Given the description of an element on the screen output the (x, y) to click on. 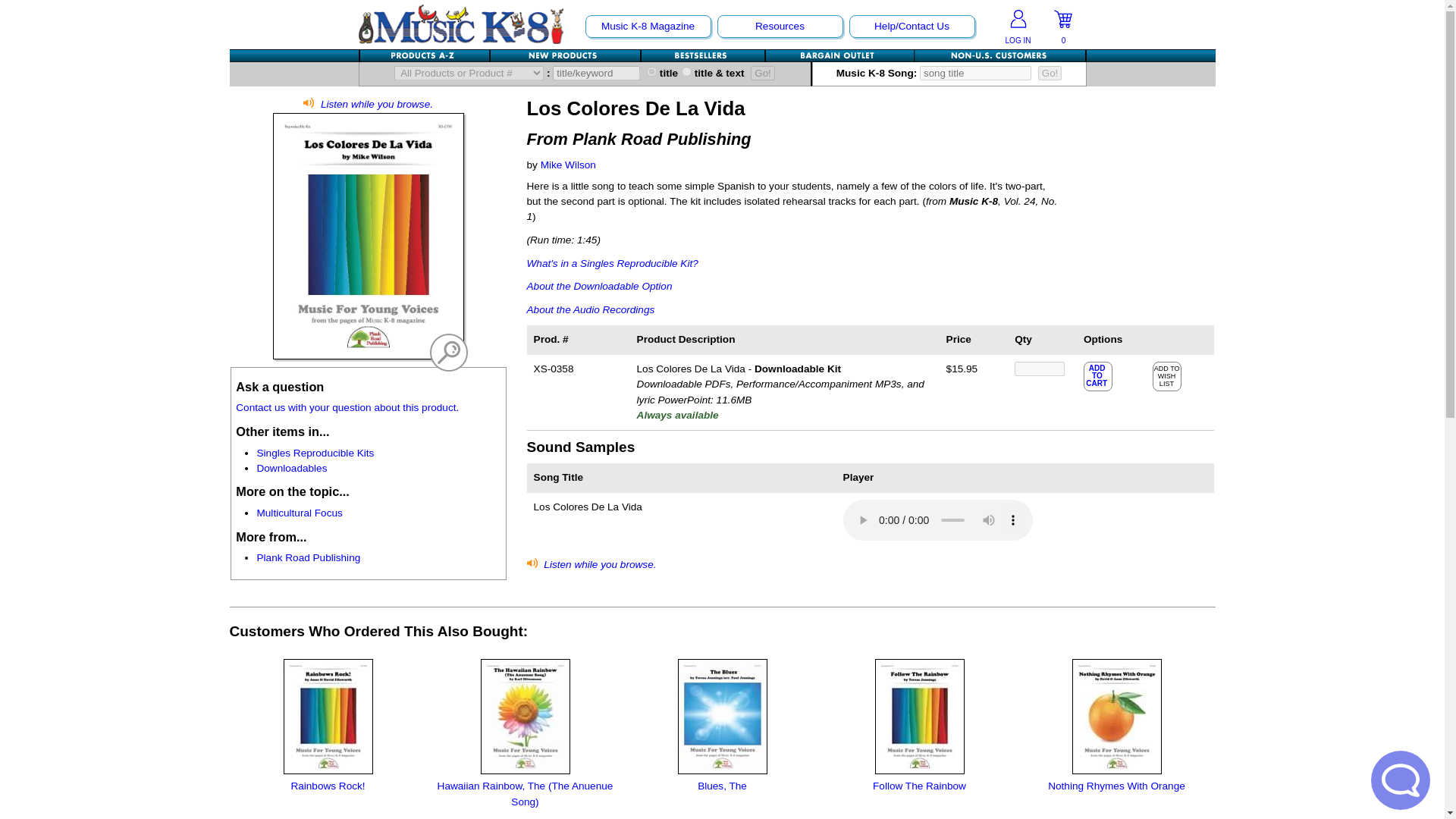
New Products (564, 55)
title (651, 71)
Go! (762, 73)
Music K-8 Magazine (647, 26)
Go! (1049, 73)
ADDTOCART (1098, 375)
both (686, 71)
Bestsellers (703, 55)
Bargain Outlet (839, 55)
Alphabetical Listing (424, 55)
